Given the description of an element on the screen output the (x, y) to click on. 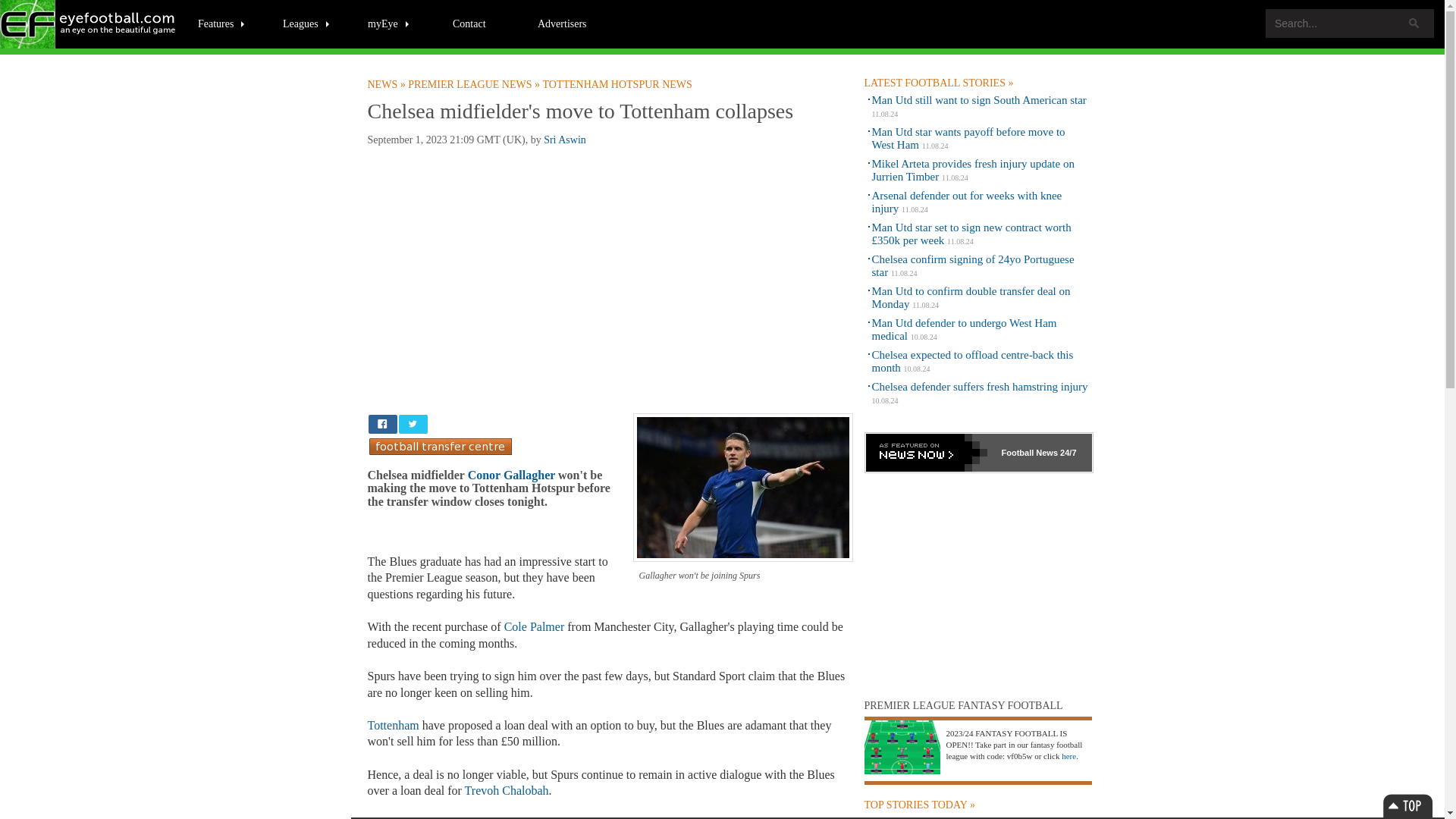
Advertisers (561, 23)
Features (221, 23)
myEye (389, 23)
Football News (88, 24)
Search (1414, 22)
Conor Gallagher (510, 474)
Search (1414, 22)
Football News (386, 84)
Trevoh Chalobah (506, 789)
Contact (469, 23)
